Given the description of an element on the screen output the (x, y) to click on. 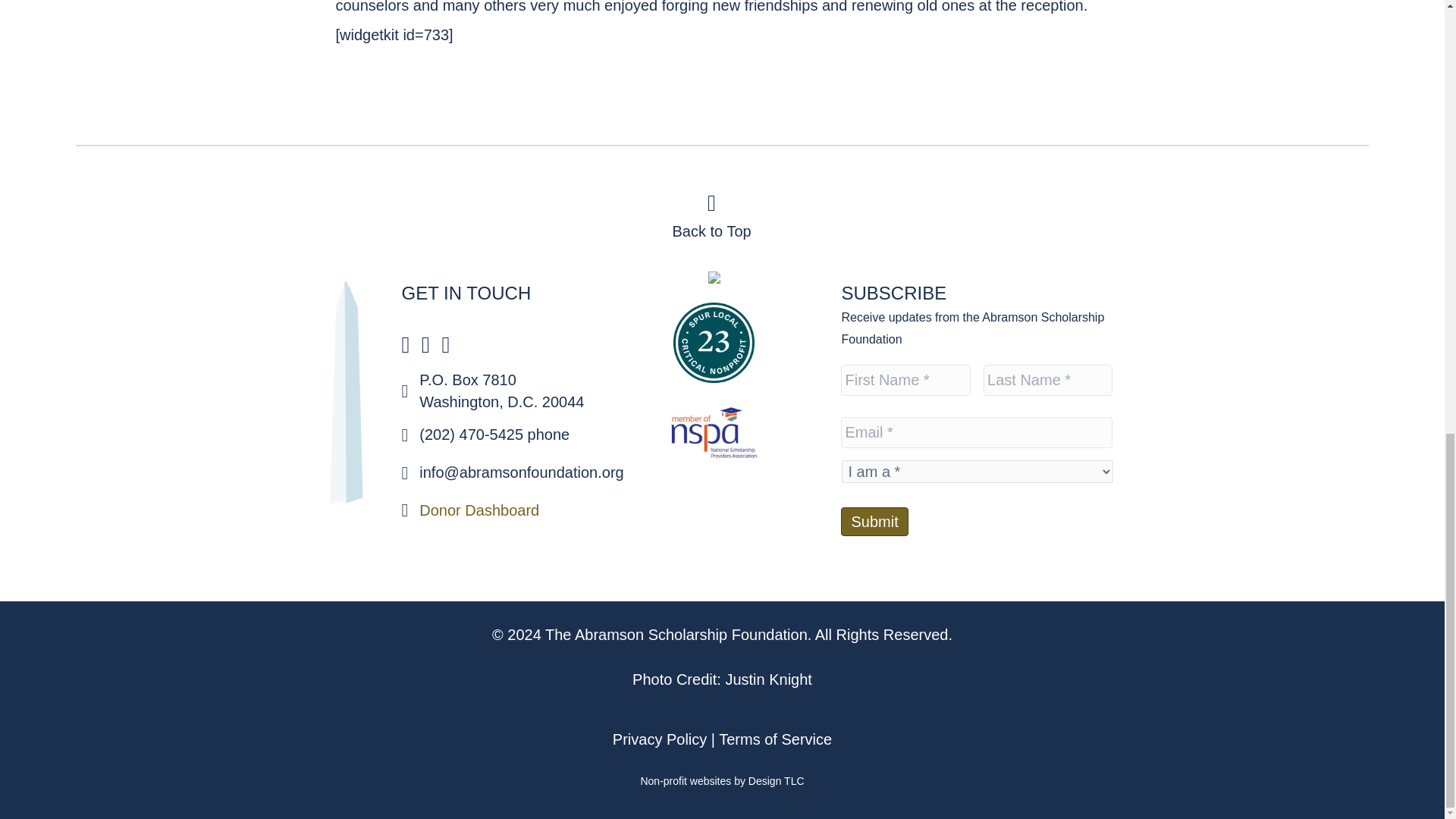
Privacy Policy (659, 739)
Submit (874, 520)
Donor Dashboard (478, 510)
NSPA-Member-Logo-Abramson (713, 434)
Design TLC (776, 780)
Terms of Service (775, 739)
Submit (874, 520)
